Given the description of an element on the screen output the (x, y) to click on. 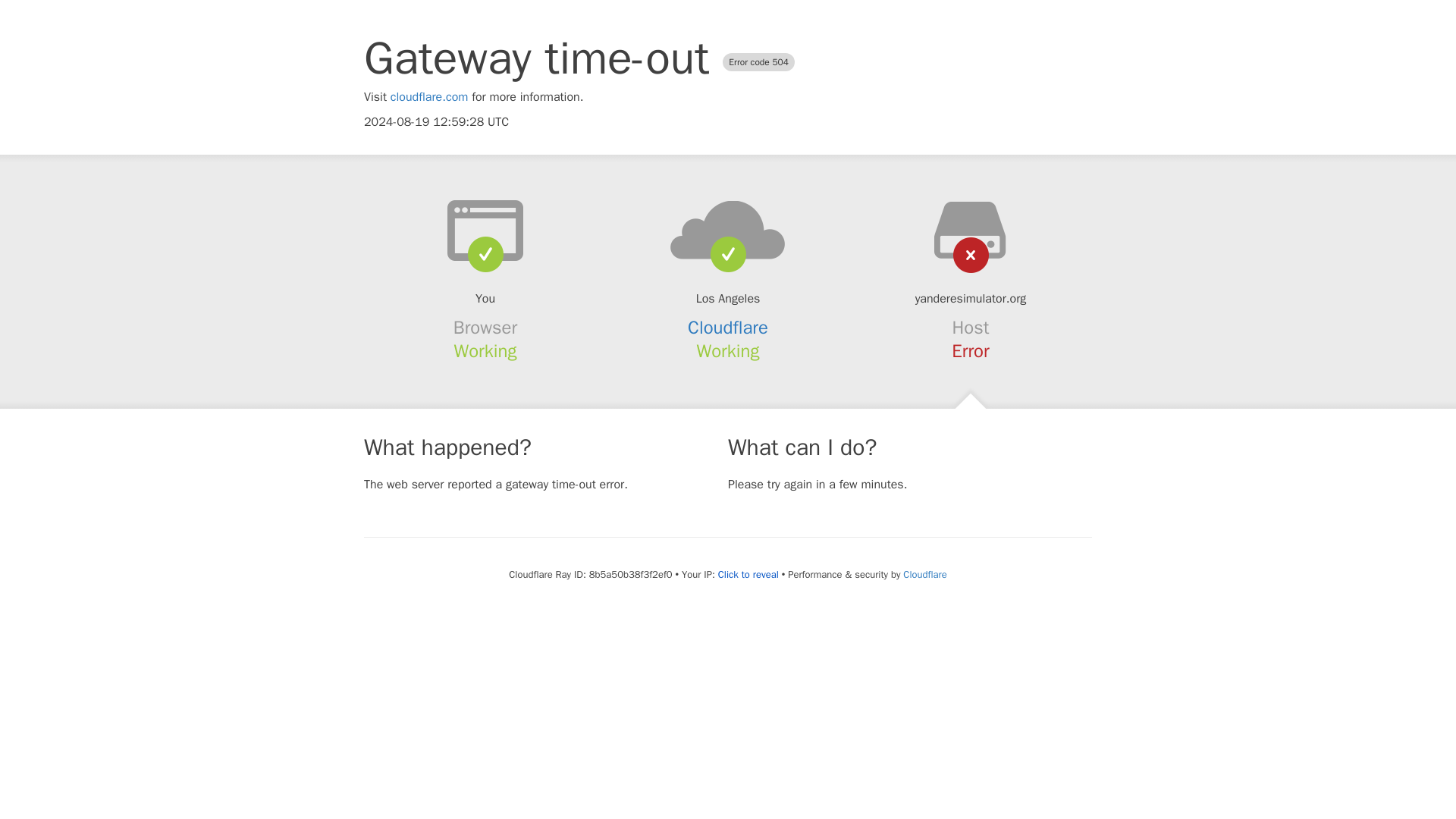
Click to reveal (747, 574)
Cloudflare (924, 574)
Cloudflare (727, 327)
cloudflare.com (429, 96)
